Given the description of an element on the screen output the (x, y) to click on. 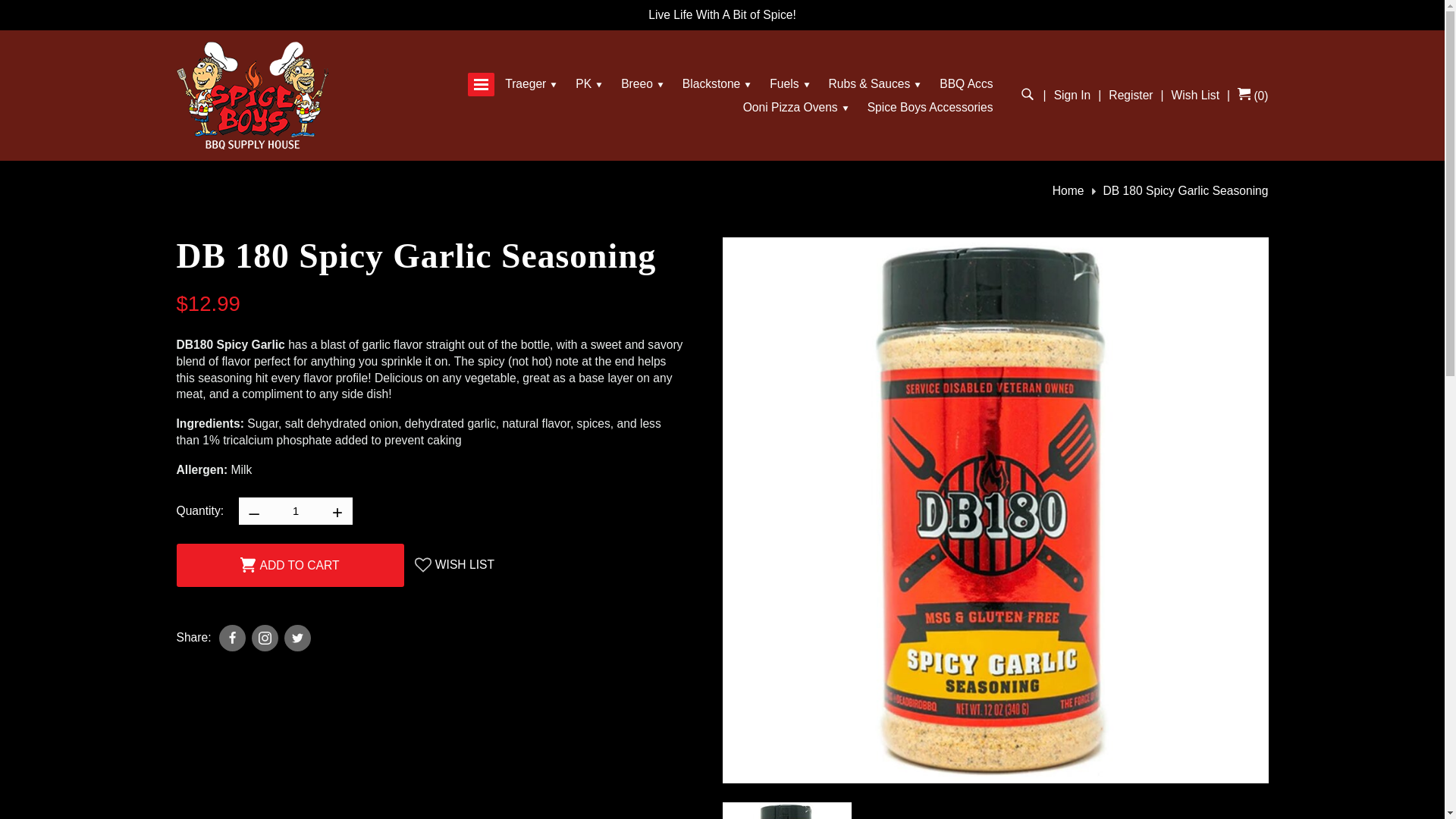
Spice Boys Accessories (929, 107)
Blackstone (717, 83)
Sign In (1072, 95)
Register (1130, 95)
Traeger (531, 83)
Wish List (1196, 95)
PK (589, 83)
Cart (1252, 95)
Fuels (789, 83)
Breeo (642, 83)
